Given the description of an element on the screen output the (x, y) to click on. 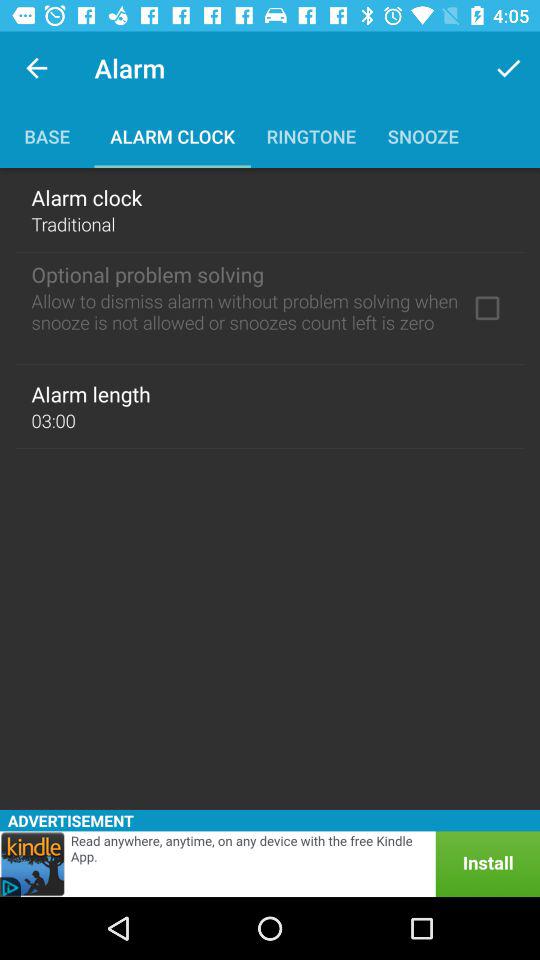
choose item to the right of alarm icon (508, 67)
